Given the description of an element on the screen output the (x, y) to click on. 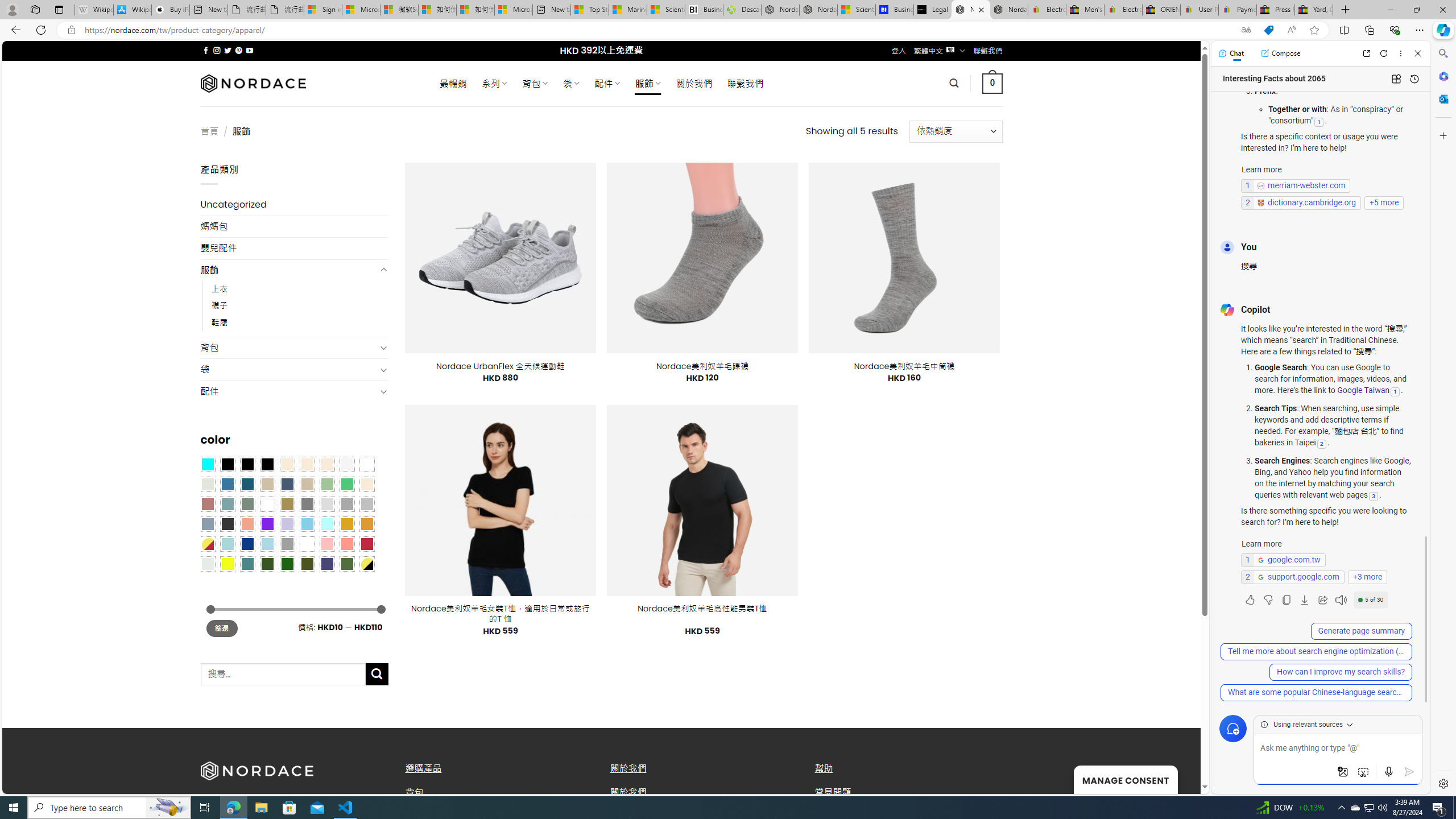
Cream (327, 464)
